Given the description of an element on the screen output the (x, y) to click on. 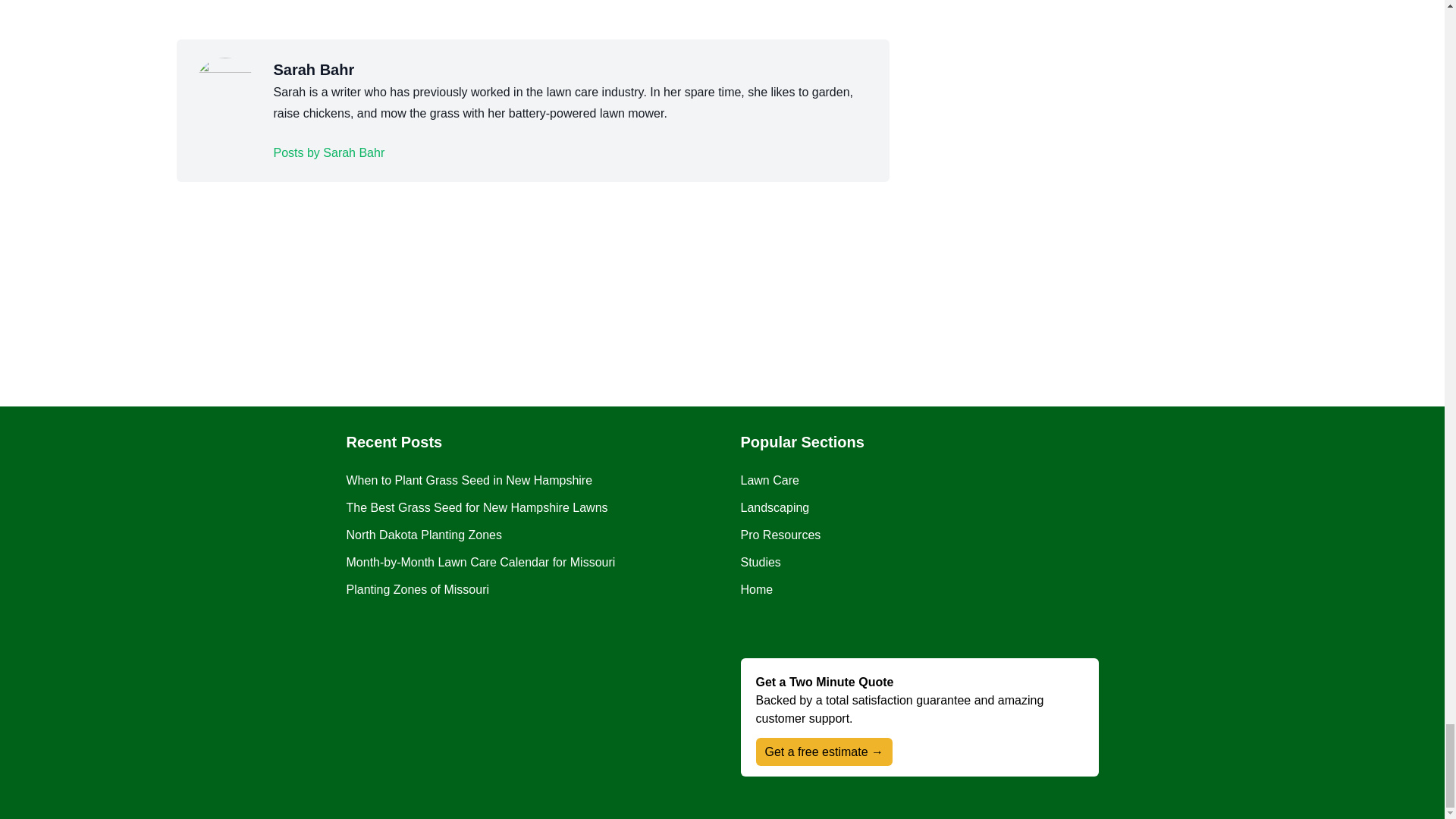
Sarah Bahr (328, 152)
